Given the description of an element on the screen output the (x, y) to click on. 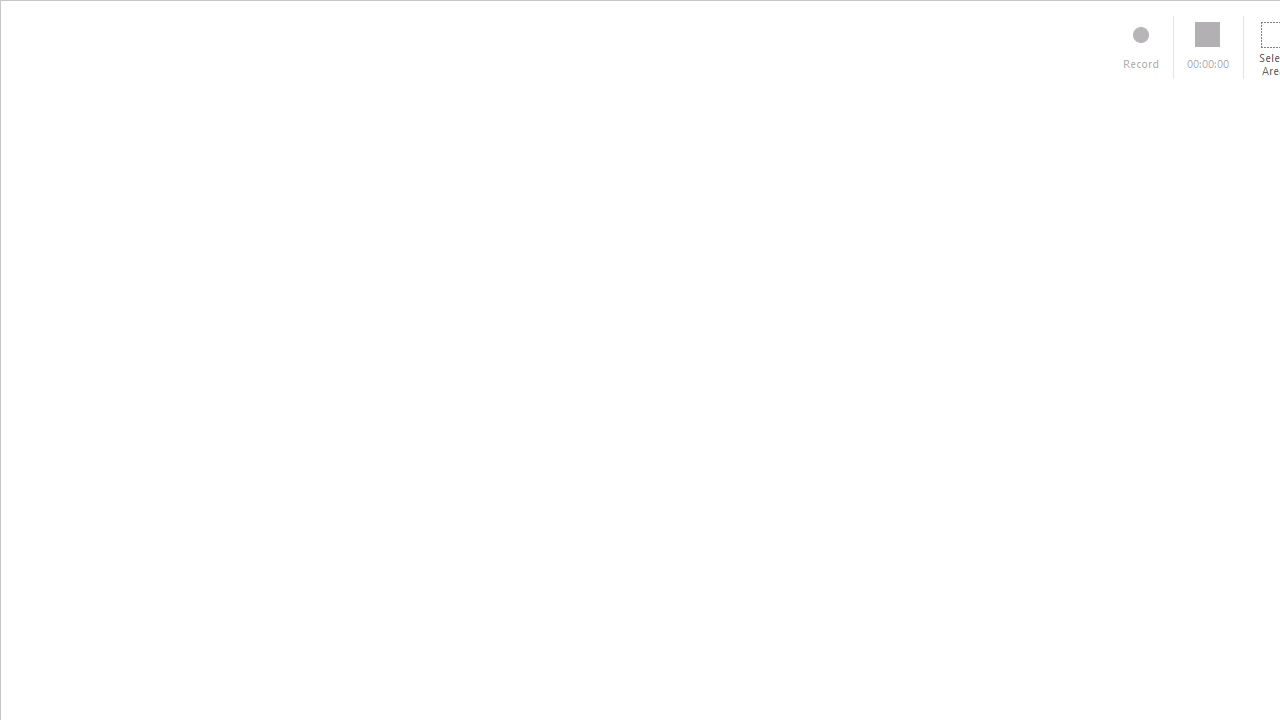
00:00:00 (1207, 47)
